Given the description of an element on the screen output the (x, y) to click on. 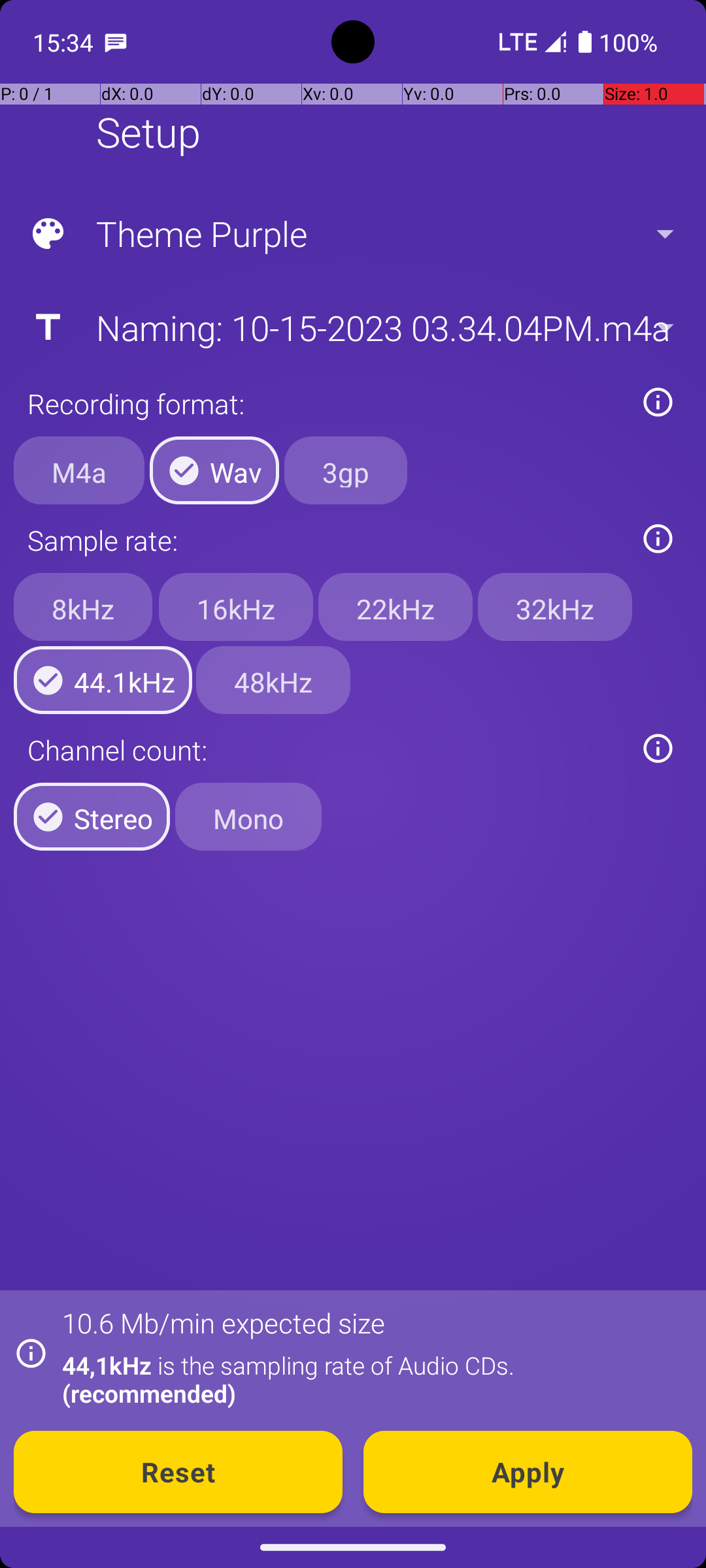
10.6 Mb/min expected size Element type: android.widget.TextView (223, 1322)
44,1kHz is the sampling rate of Audio CDs. (recommended) Element type: android.widget.TextView (370, 1378)
Naming: 10-15-2023 03.34.04PM.m4a Element type: android.widget.TextView (352, 327)
